Given the description of an element on the screen output the (x, y) to click on. 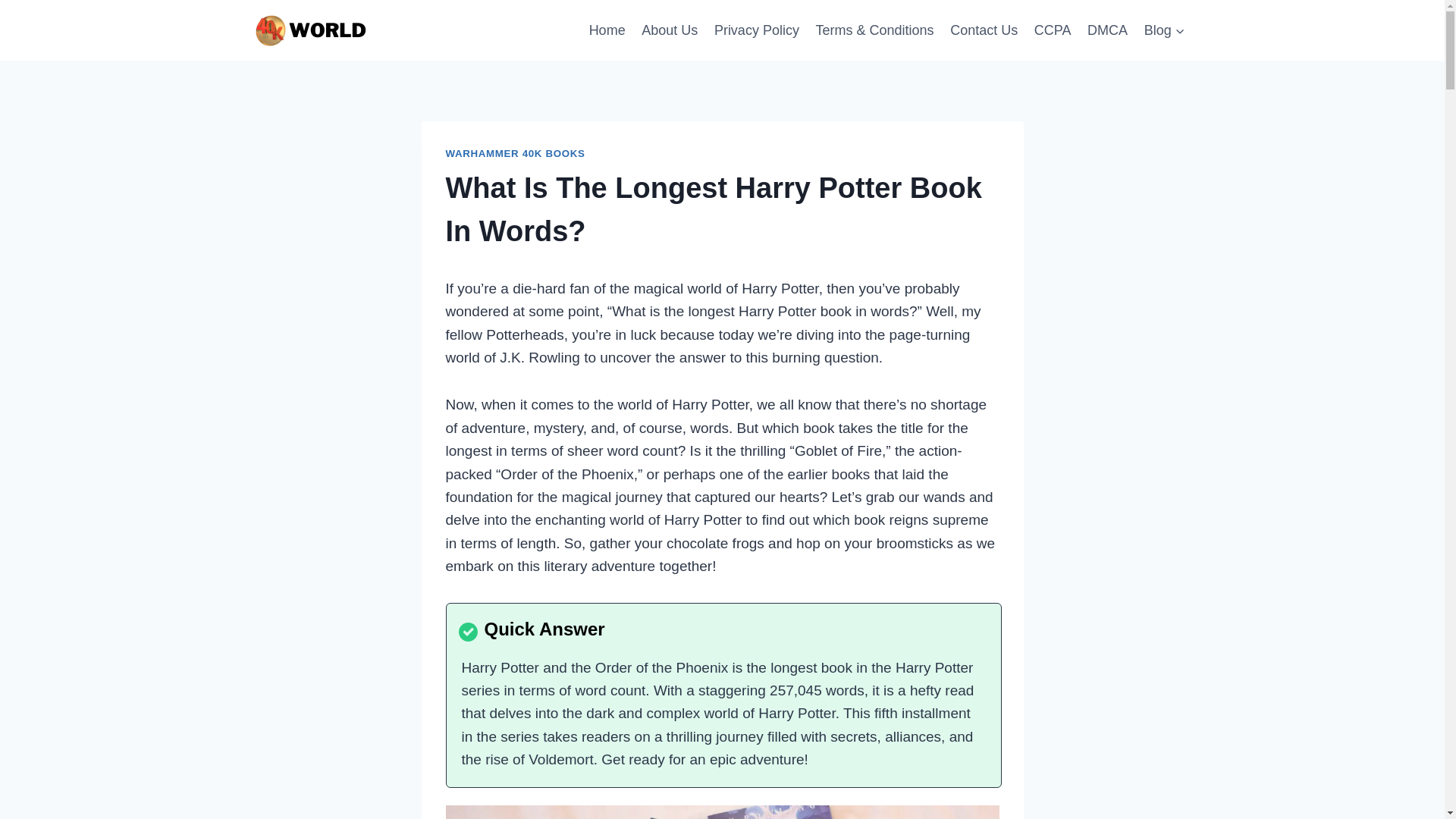
Blog (1164, 30)
Privacy Policy (757, 30)
Home (606, 30)
DMCA (1106, 30)
CCPA (1052, 30)
WARHAMMER 40K BOOKS (515, 153)
About Us (669, 30)
Contact Us (984, 30)
